Given the description of an element on the screen output the (x, y) to click on. 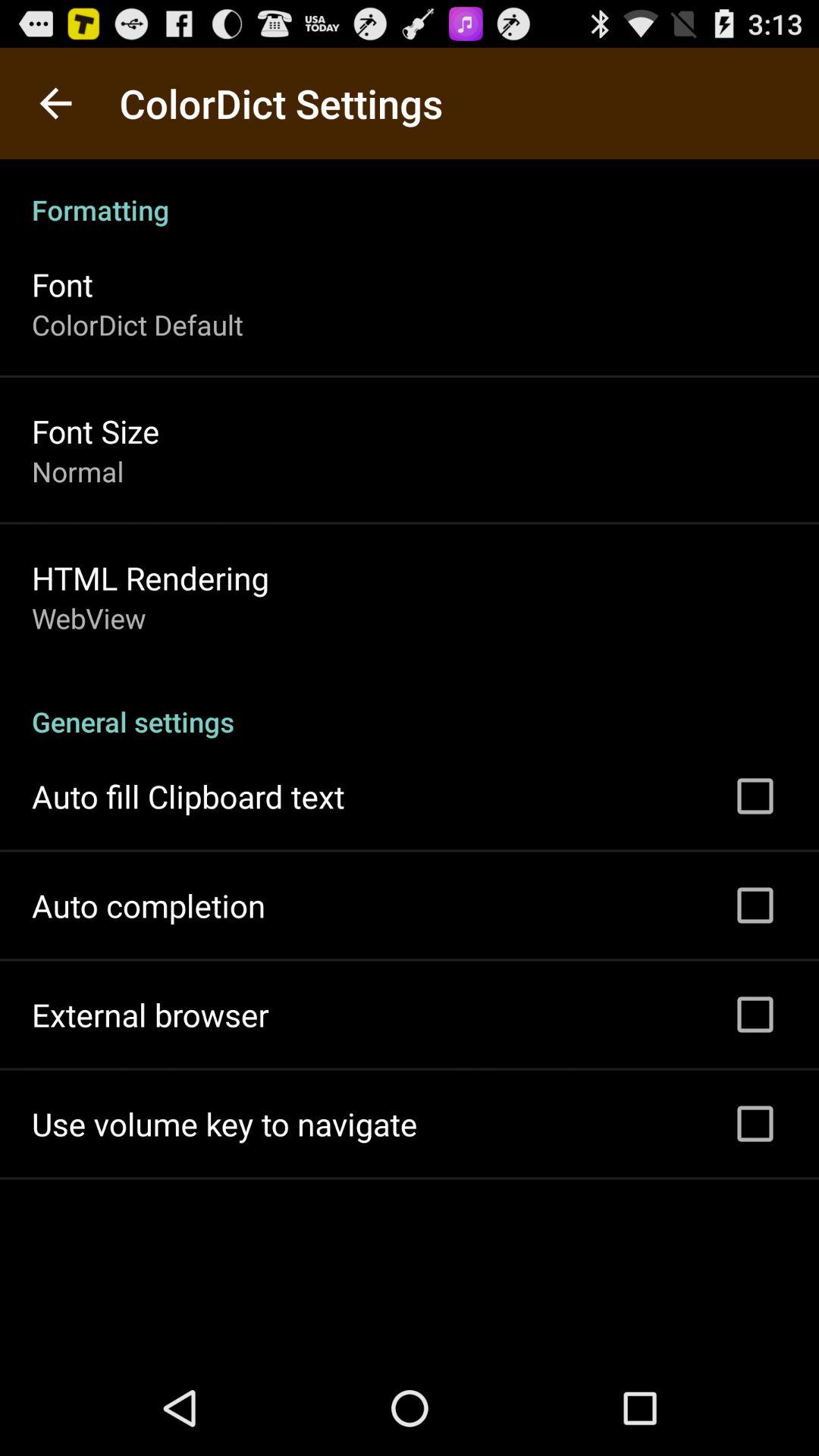
swipe to webview (88, 618)
